Given the description of an element on the screen output the (x, y) to click on. 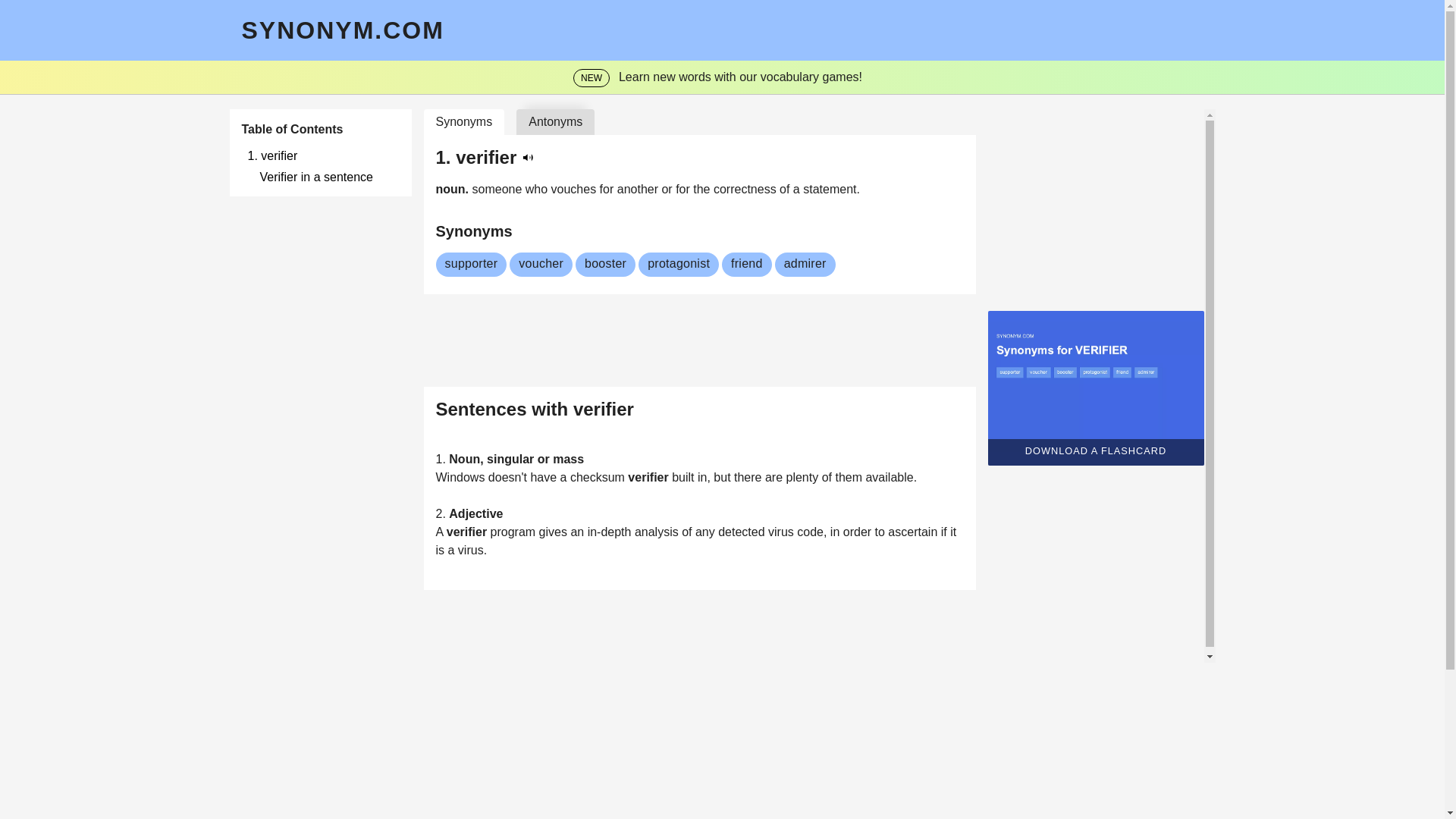
are (775, 477)
available. (890, 477)
doesn't (509, 477)
for (608, 188)
Verifier in a sentence (328, 177)
vouches (575, 188)
supporter (470, 264)
the (703, 188)
who (538, 188)
Advertisement (721, 756)
